Given the description of an element on the screen output the (x, y) to click on. 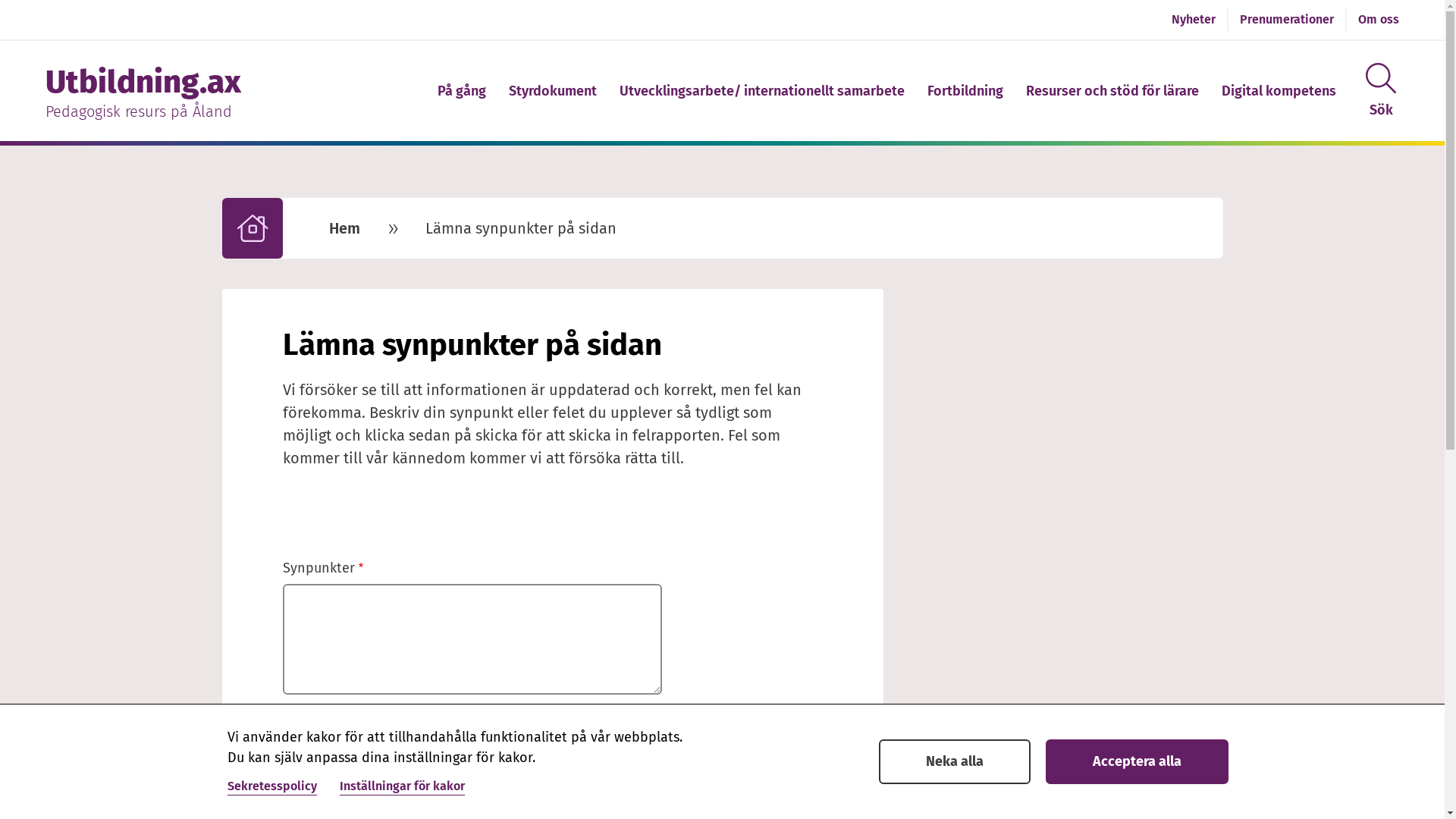
Sekretesspolicy Element type: text (271, 786)
Hem Element type: text (344, 227)
Prenumerationer Element type: text (1286, 19)
Skicka Element type: text (349, 746)
Styrdokument Element type: text (552, 92)
Nyheter Element type: text (1193, 19)
Utvecklingsarbete/ internationellt samarbete Element type: text (761, 92)
Om oss Element type: text (1378, 19)
Neka alla Element type: text (954, 761)
Fortbildning Element type: text (965, 92)
Digital kompetens Element type: text (1278, 92)
Acceptera alla Element type: text (1136, 761)
